Given the description of an element on the screen output the (x, y) to click on. 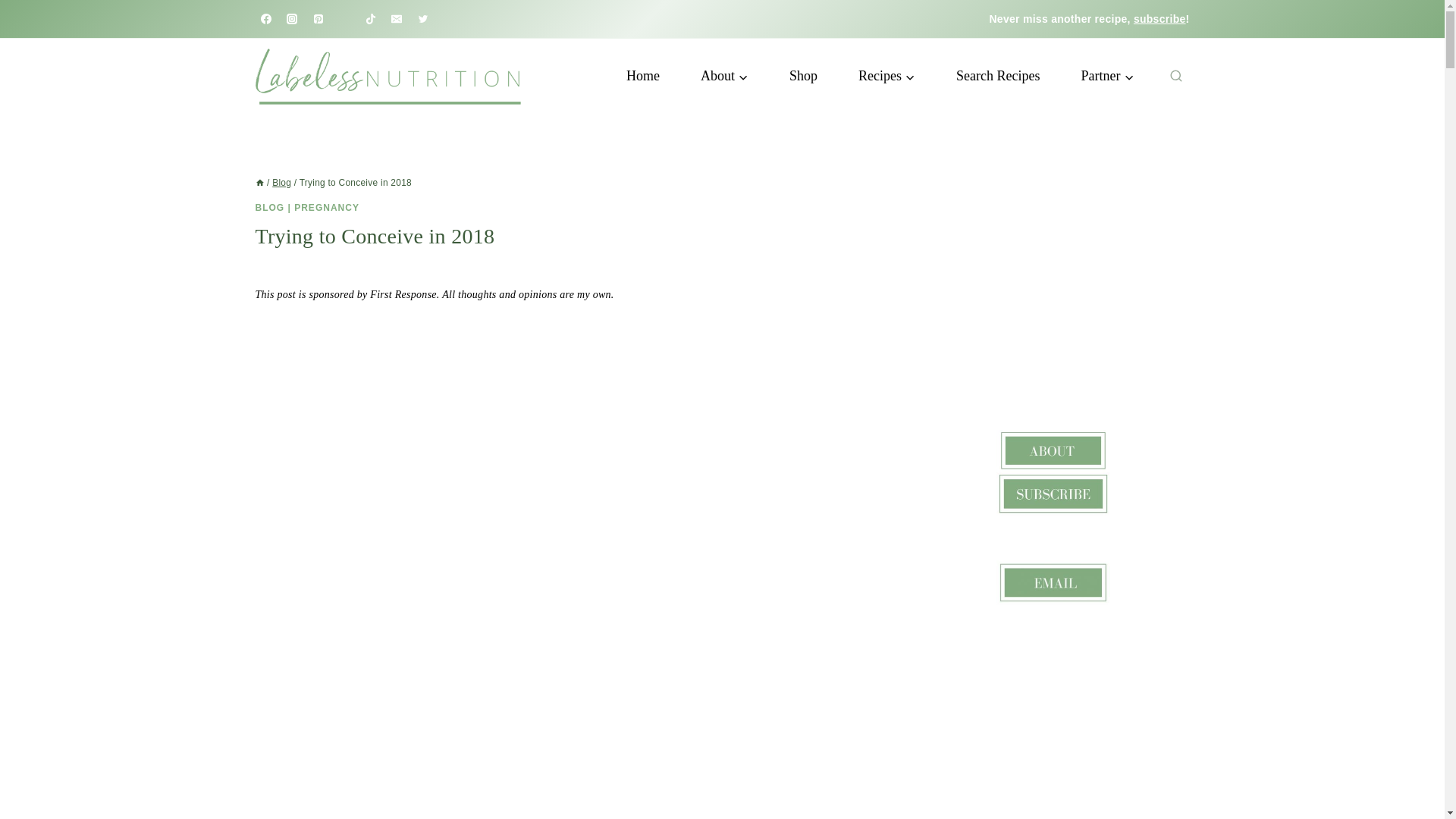
Home (642, 76)
About (723, 76)
Recipes (887, 76)
Shop (803, 76)
subscribe (1160, 19)
